Given the description of an element on the screen output the (x, y) to click on. 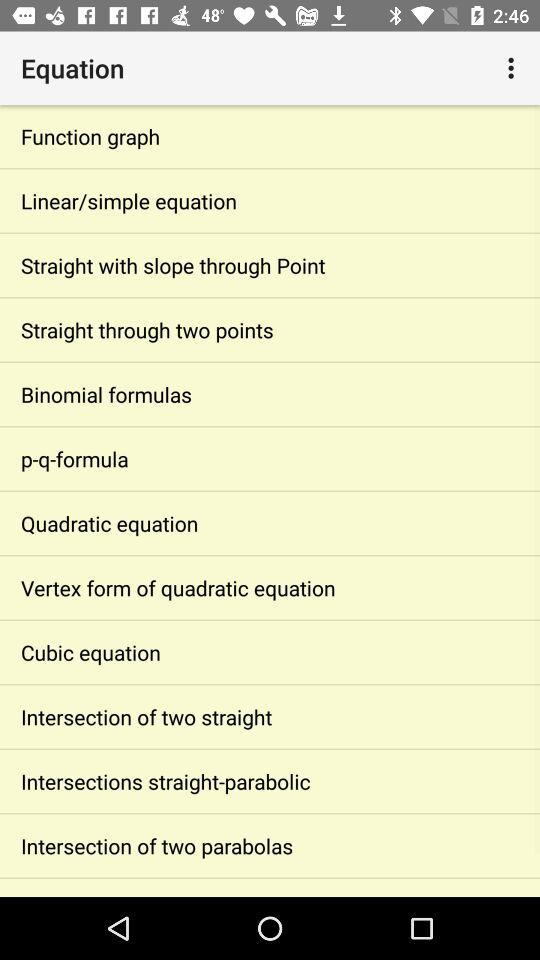
turn off intersections straight-parabolic (270, 781)
